Given the description of an element on the screen output the (x, y) to click on. 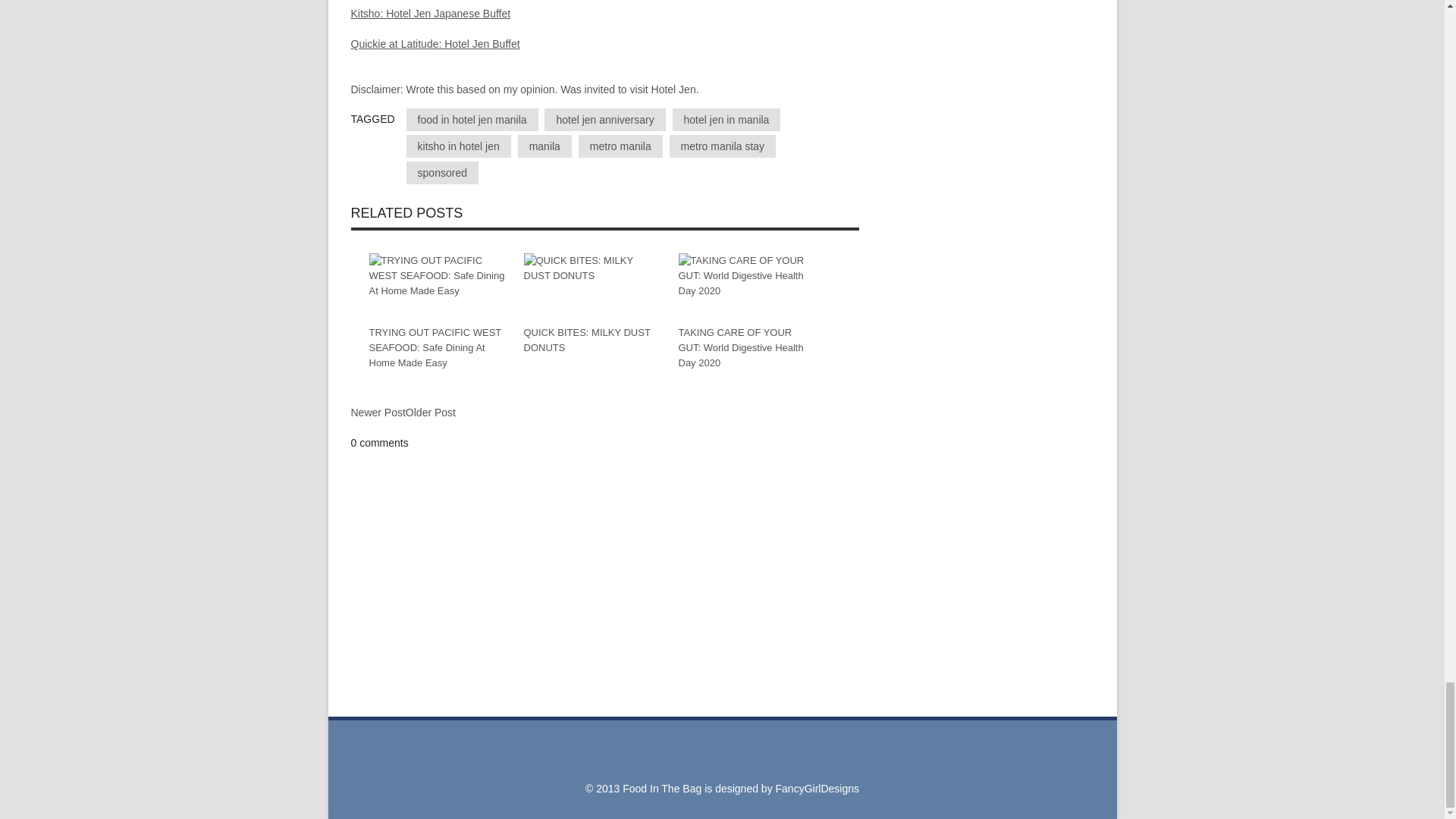
Older Post (430, 412)
Newer Post (377, 412)
